Given the description of an element on the screen output the (x, y) to click on. 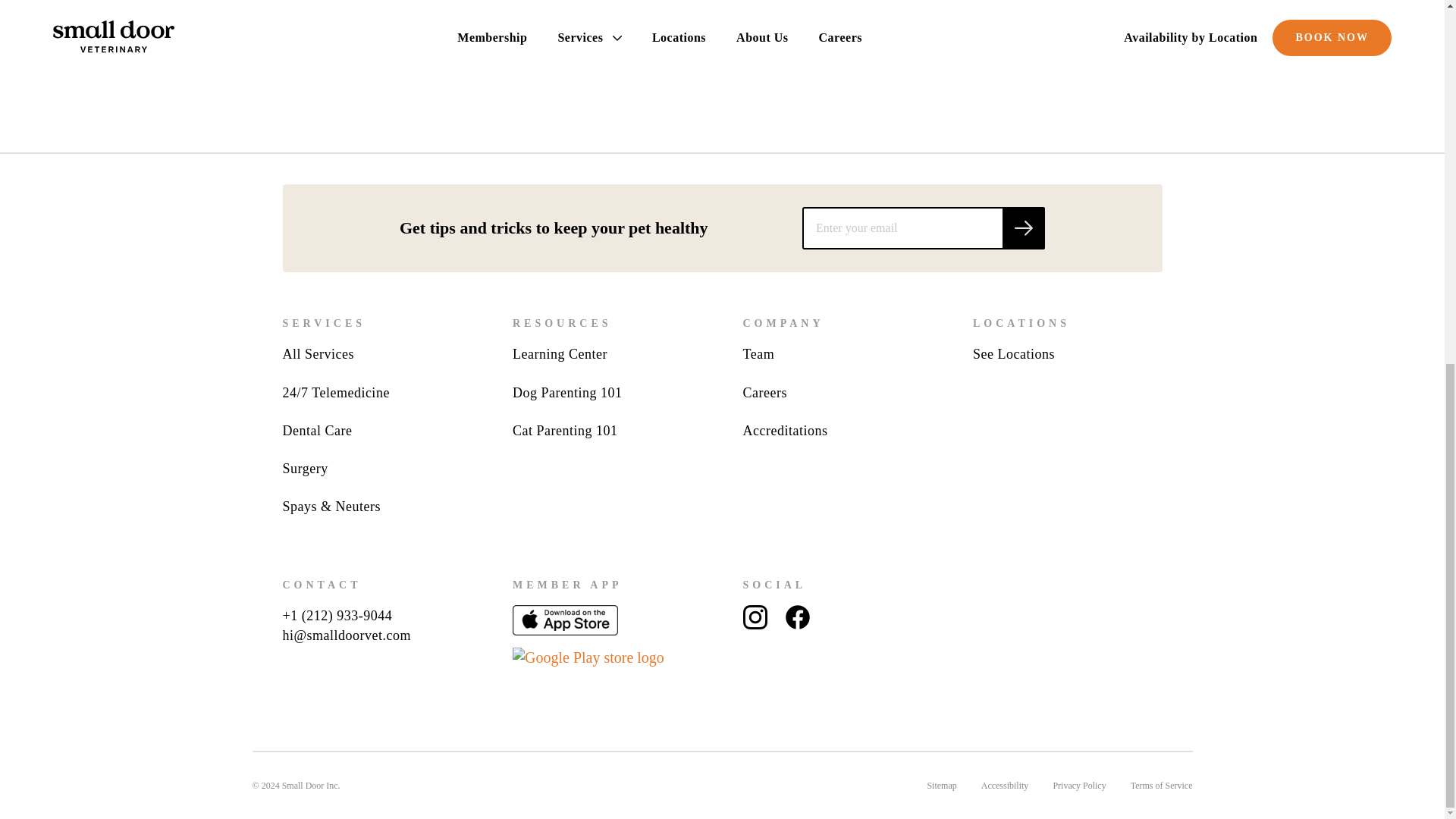
Surgery (304, 468)
All Services (317, 353)
Dental Care (317, 430)
